Given the description of an element on the screen output the (x, y) to click on. 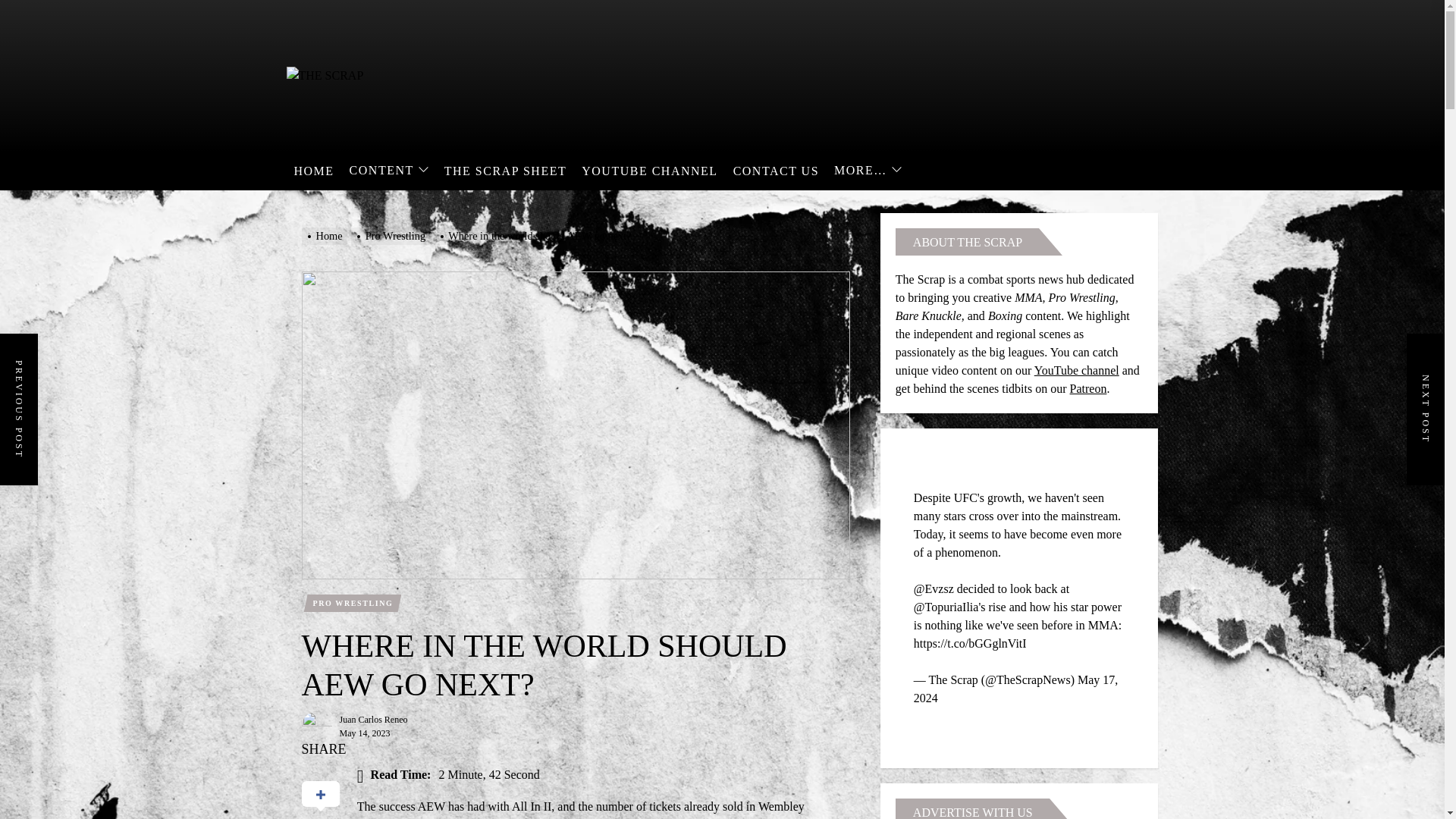
CONTENT (389, 170)
THE SCRAP SHEET (505, 171)
YOUTUBE CHANNEL (648, 171)
CONTACT US (775, 171)
HOME (314, 171)
